Given the description of an element on the screen output the (x, y) to click on. 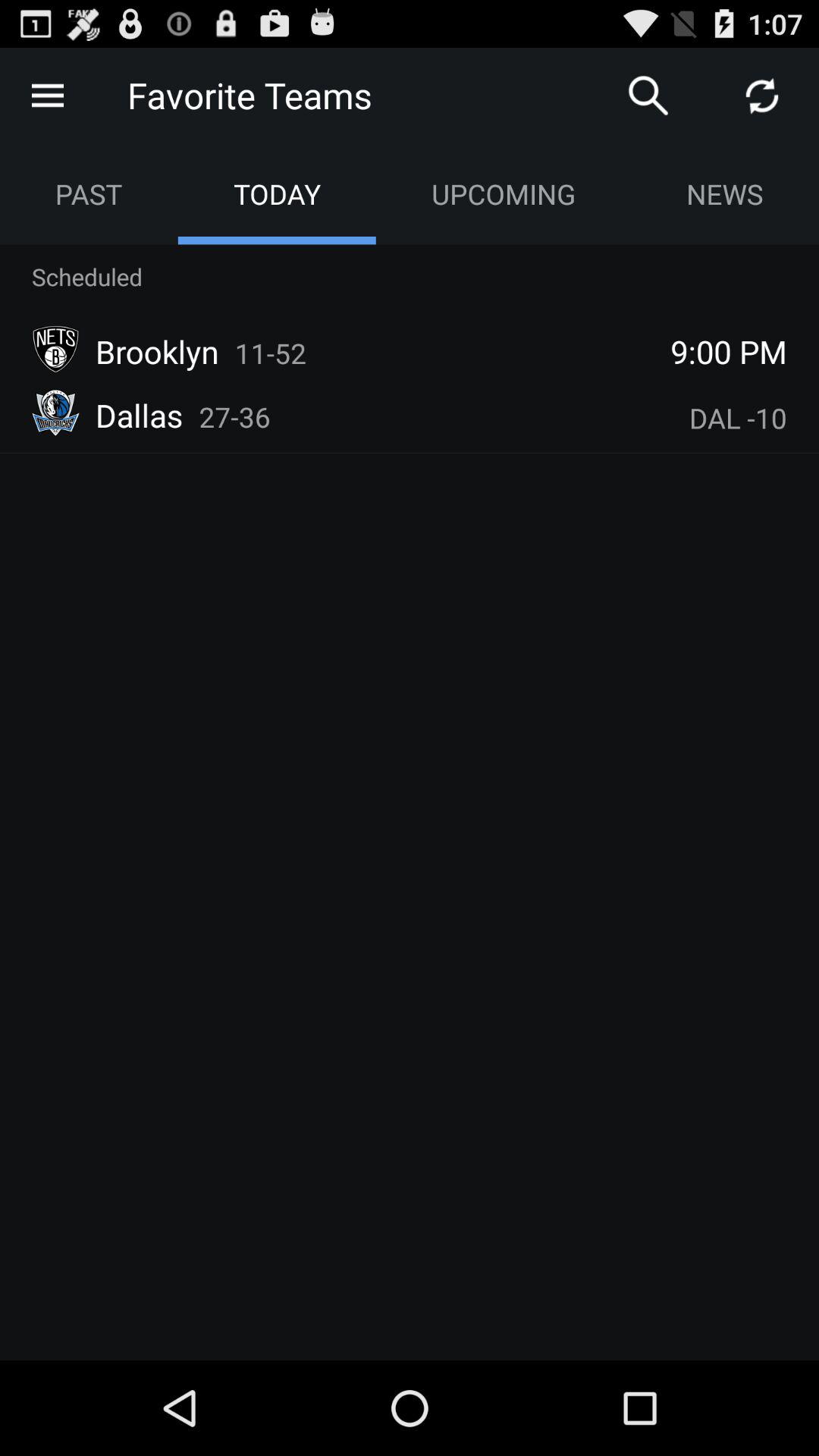
click app above dal -10 icon (728, 351)
